Given the description of an element on the screen output the (x, y) to click on. 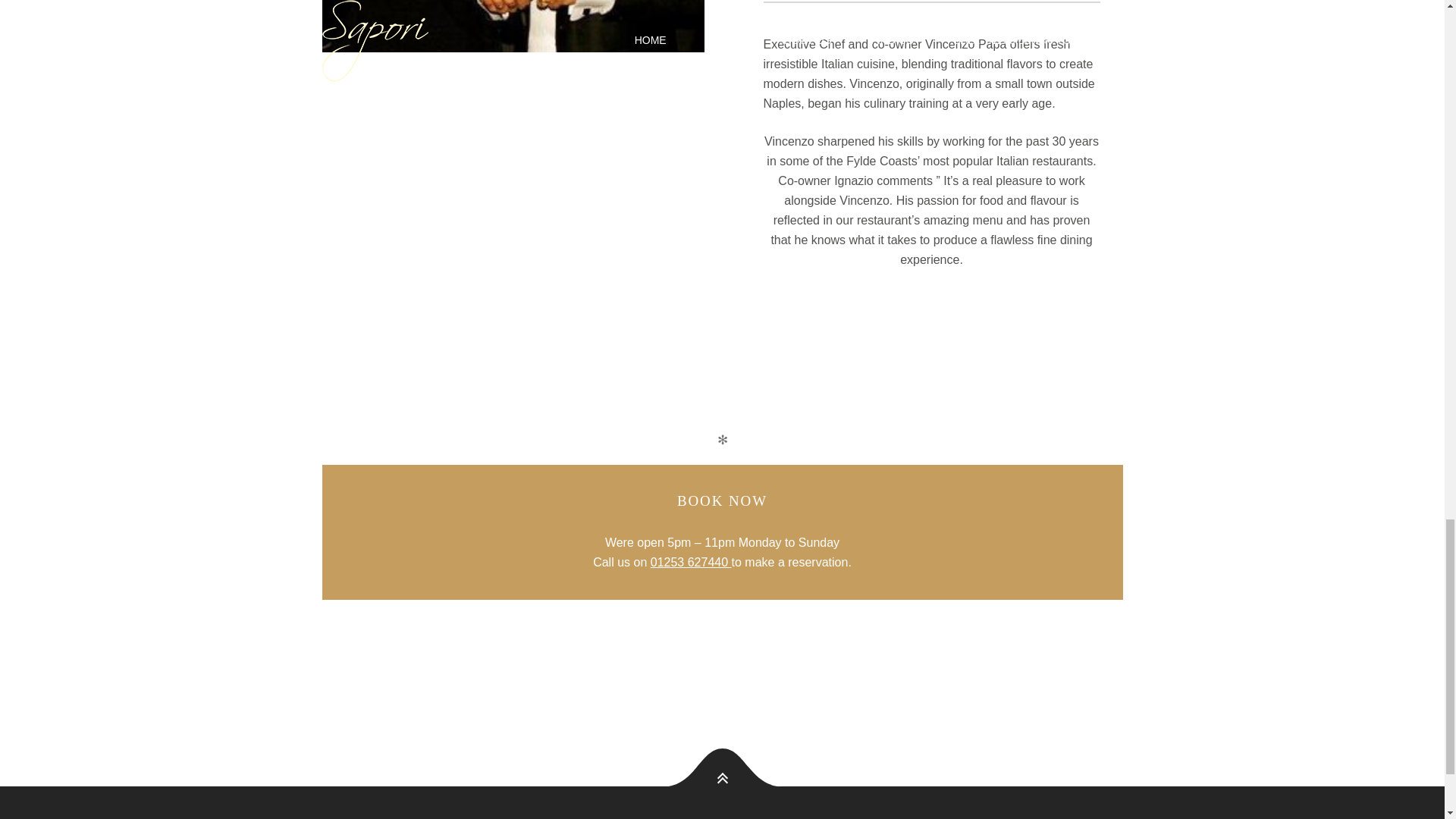
01253 627440 (691, 563)
